Given the description of an element on the screen output the (x, y) to click on. 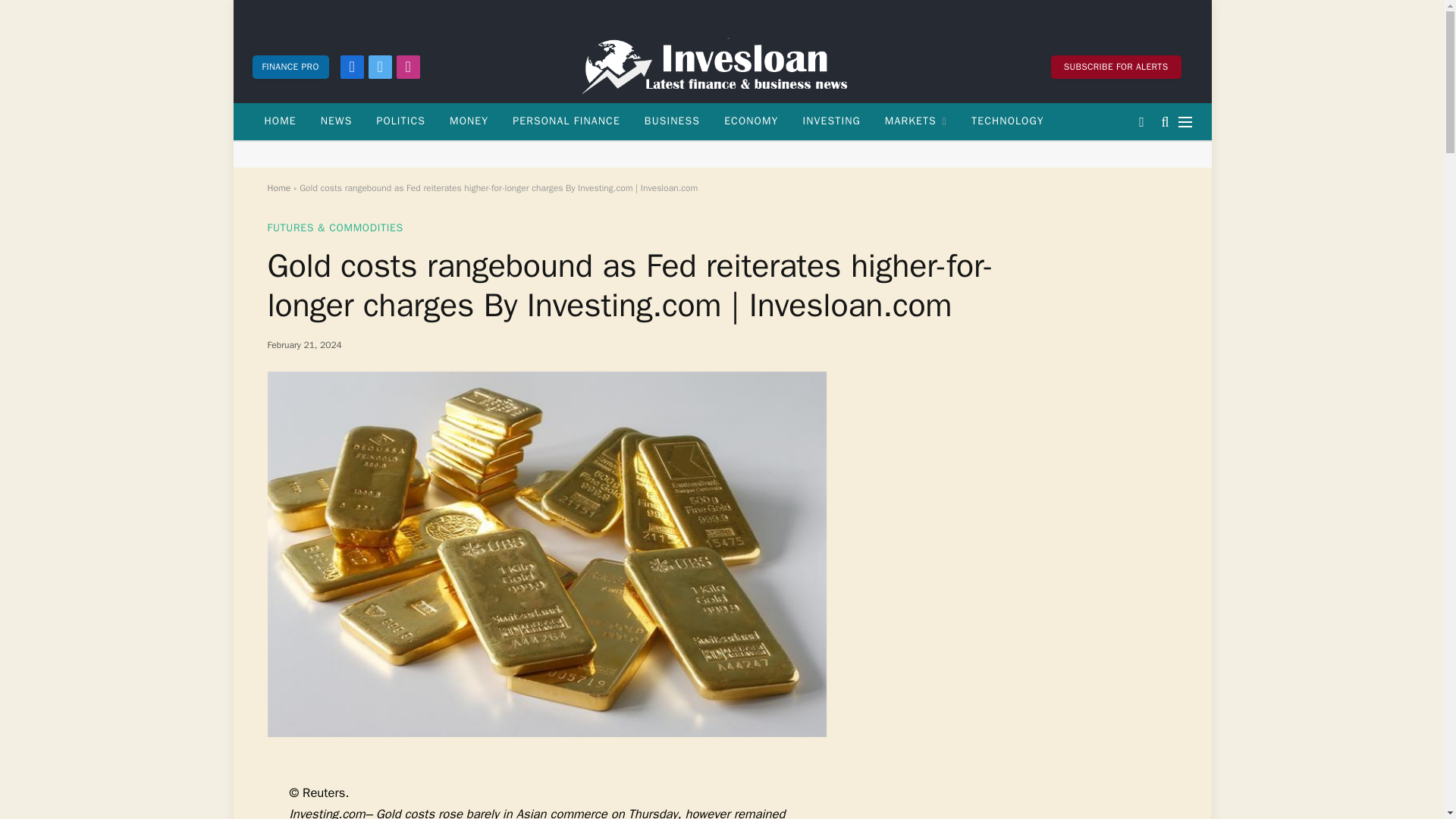
SUBSCRIBE FOR ALERTS (1115, 65)
Switch to Dark Design - easier on eyes. (1141, 121)
Home (277, 187)
Twitter (379, 65)
NEWS (336, 121)
FINANCE PRO (290, 65)
PERSONAL FINANCE (565, 121)
Instagram (408, 65)
TECHNOLOGY (1008, 121)
MONEY (469, 121)
